Given the description of an element on the screen output the (x, y) to click on. 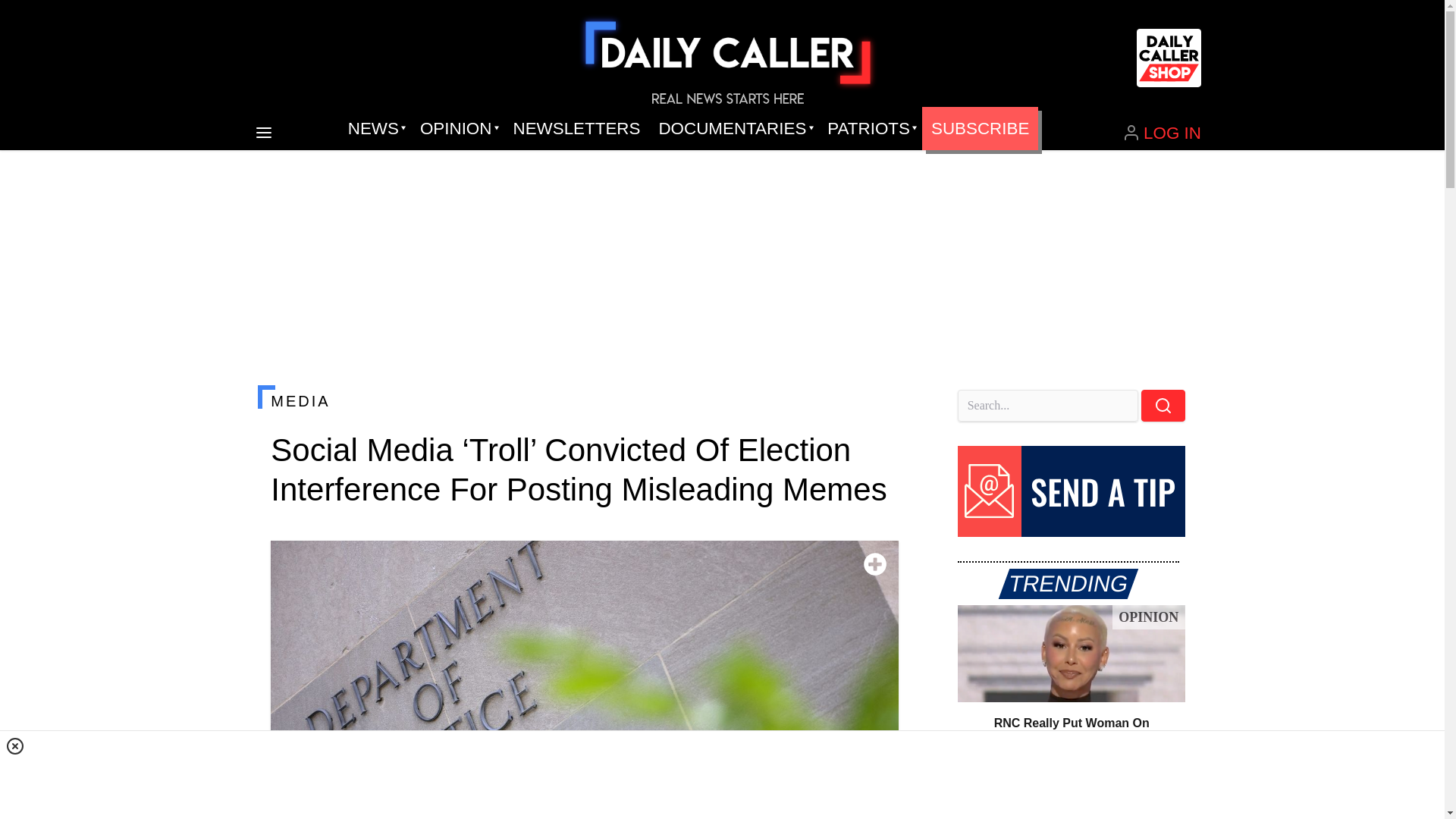
3rd party ad content (721, 778)
NEWS (374, 128)
Close window (14, 746)
MEDIA (584, 400)
SUBSCRIBE (979, 128)
DOCUMENTARIES (733, 128)
Toggle fullscreen (874, 563)
PATRIOTS (869, 128)
OPINION (456, 128)
NEWSLETTERS (576, 128)
RNC Really Put Woman On Stage With A Gigantic Face Tattoo (1071, 653)
